Given the description of an element on the screen output the (x, y) to click on. 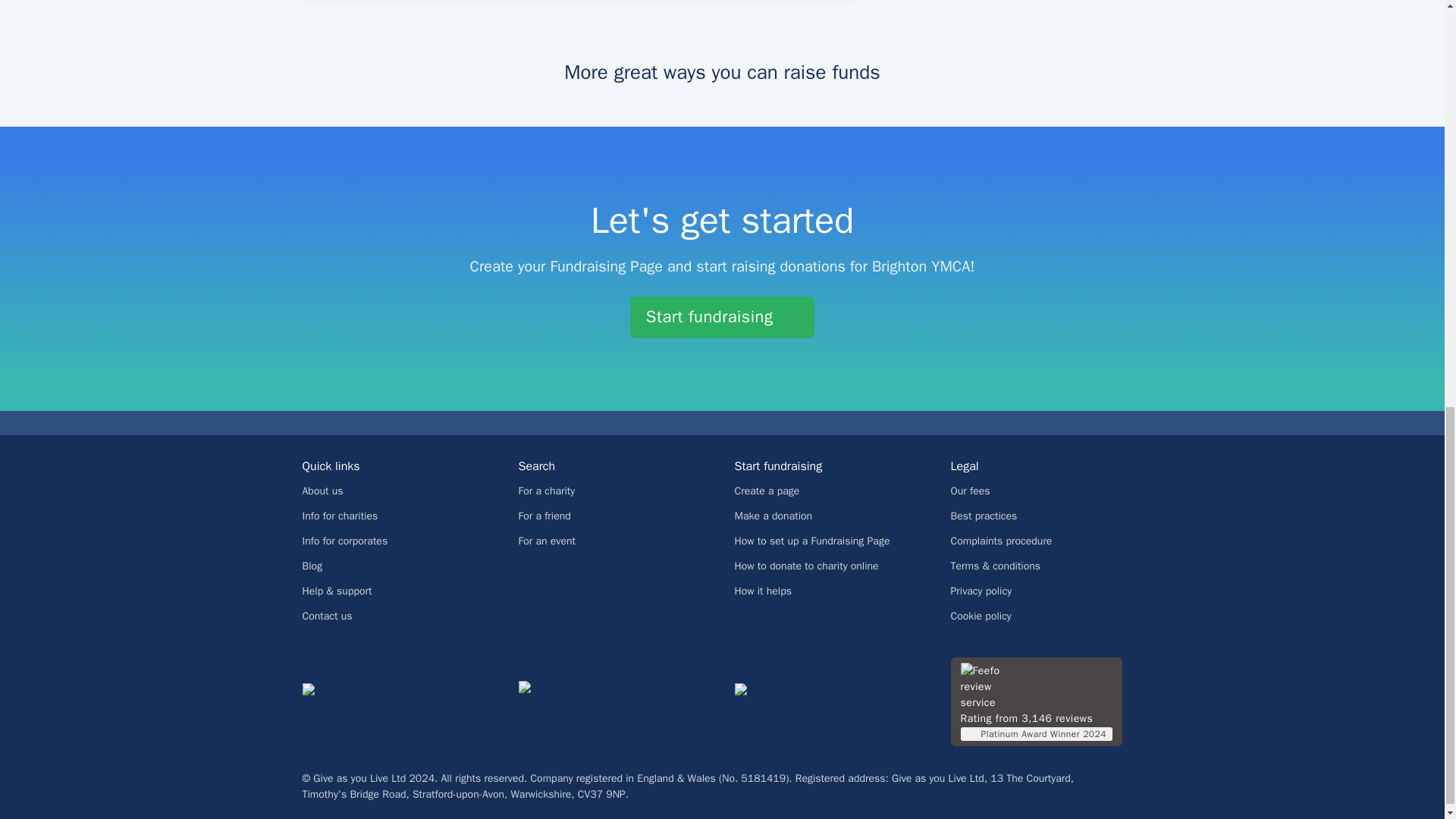
Start fundraising (721, 317)
4.7 stars out of 5 (1041, 686)
